Given the description of an element on the screen output the (x, y) to click on. 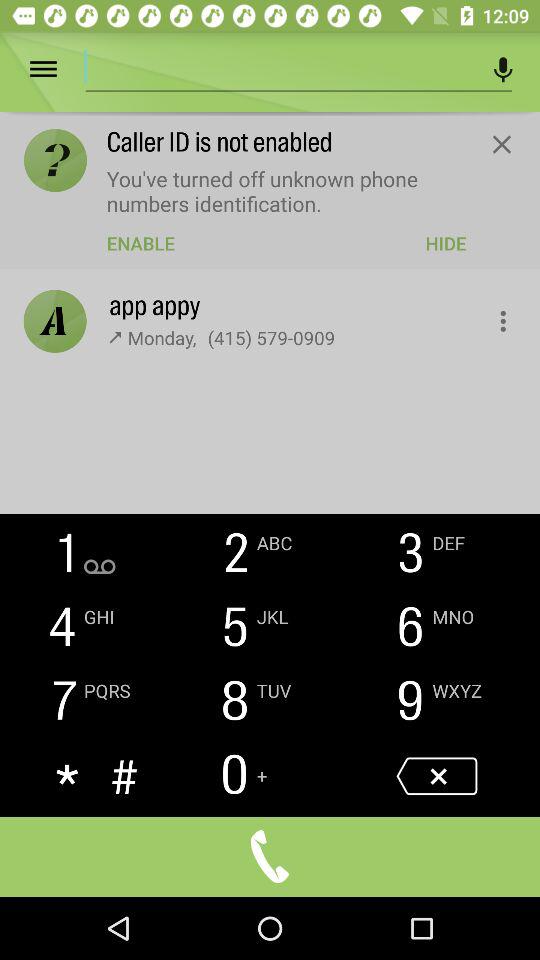
field to input phone number (281, 66)
